Given the description of an element on the screen output the (x, y) to click on. 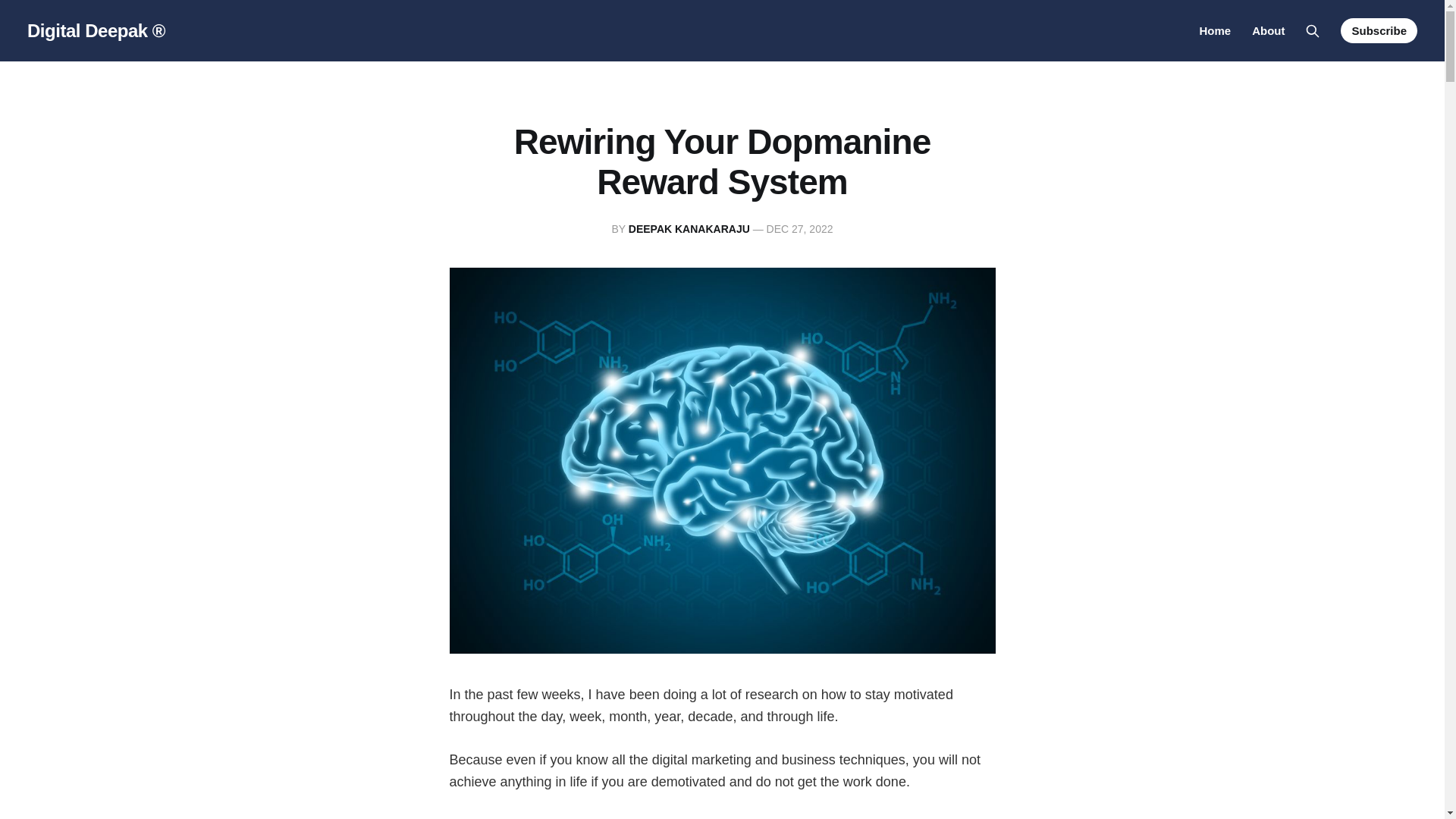
About (1268, 30)
DEEPAK KANAKARAJU (688, 228)
Home (1214, 30)
Subscribe (1378, 30)
